Given the description of an element on the screen output the (x, y) to click on. 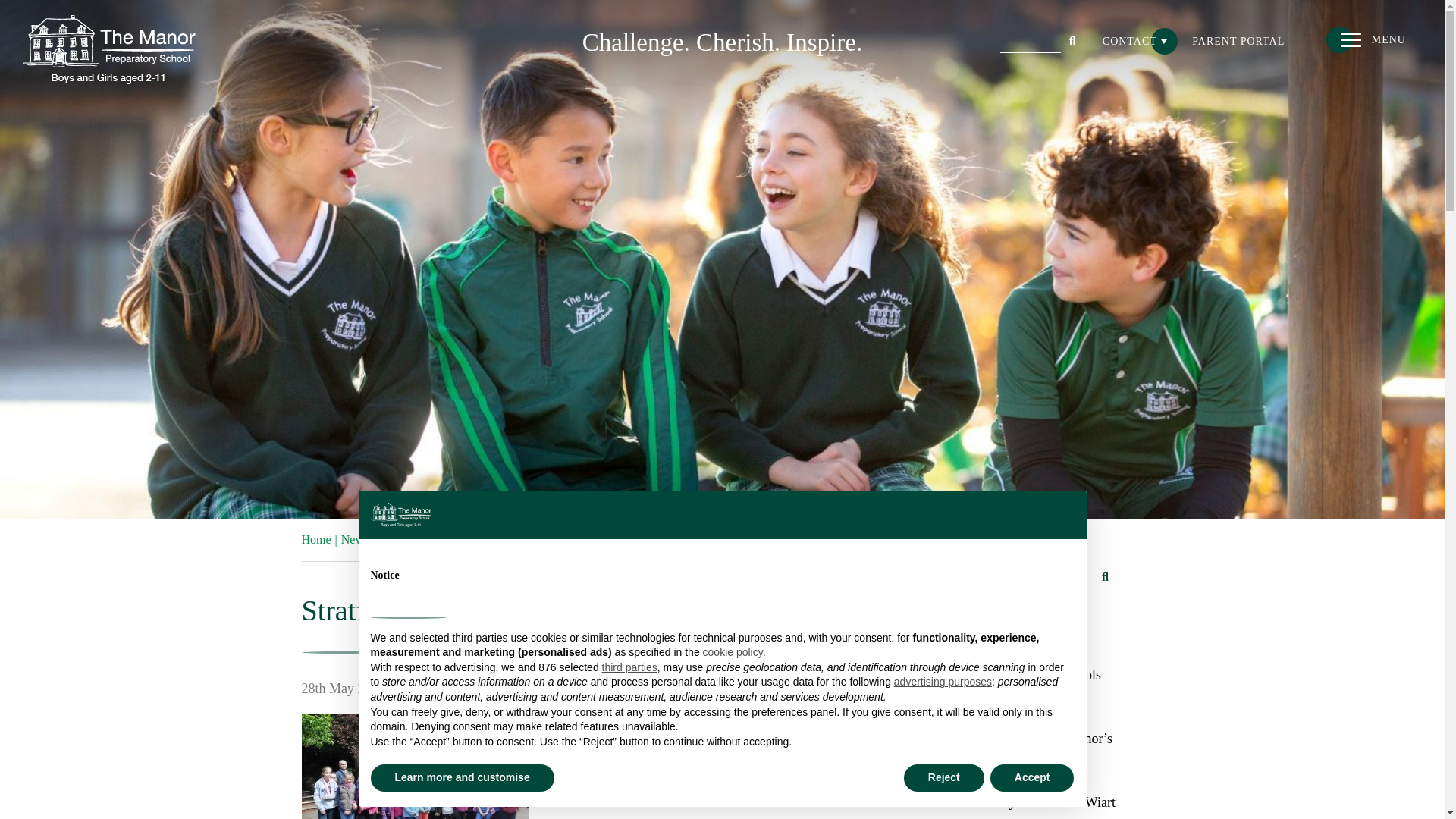
Search (1072, 39)
Go to the Uncategorised category archives. (461, 539)
PARENT PORTAL (1238, 41)
Go to Home. (316, 539)
